Given the description of an element on the screen output the (x, y) to click on. 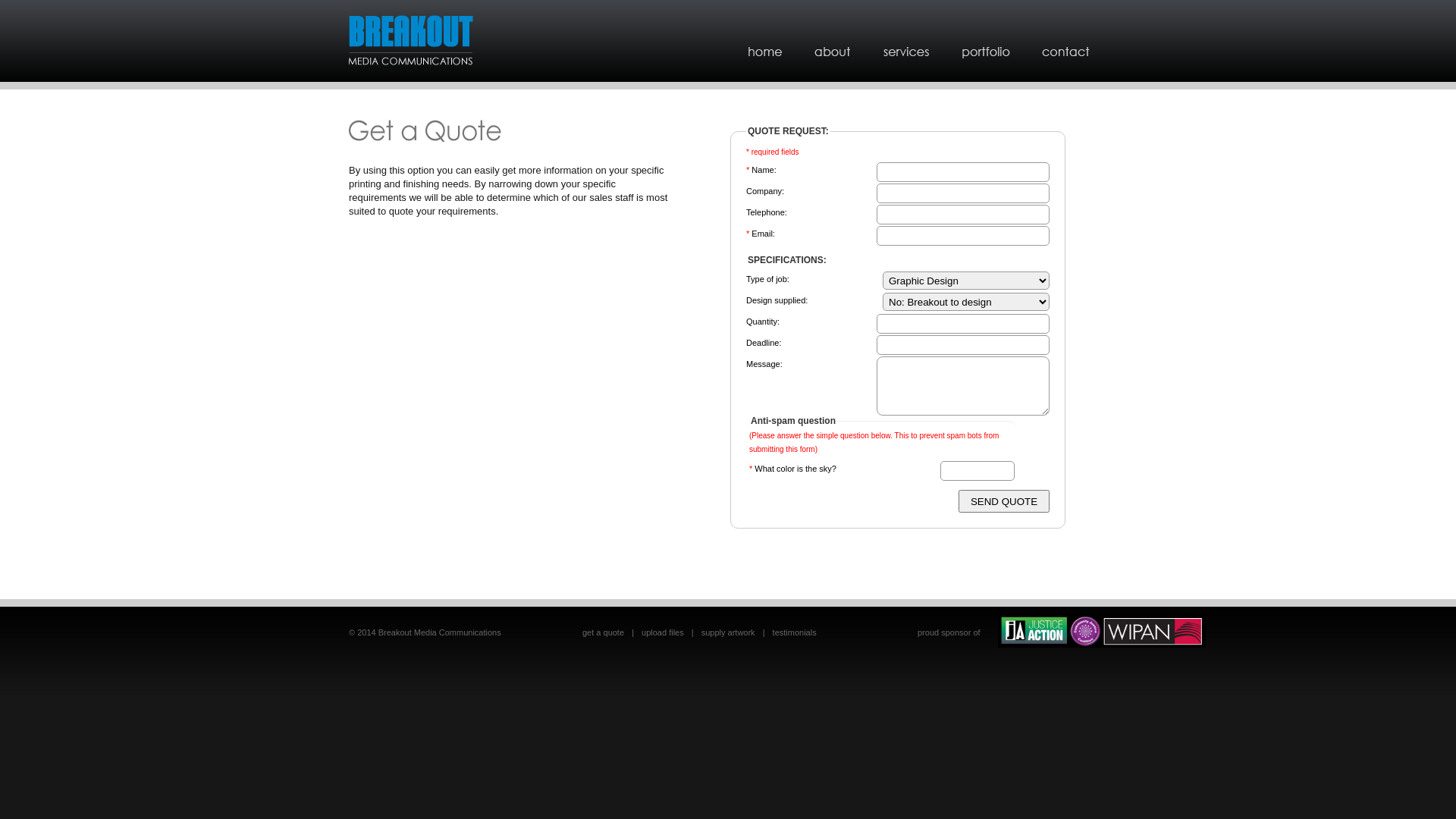
supply artwork Element type: text (728, 632)
testimonials Element type: text (794, 632)
get a quote Element type: text (603, 632)
upload files Element type: text (662, 632)
